Given the description of an element on the screen output the (x, y) to click on. 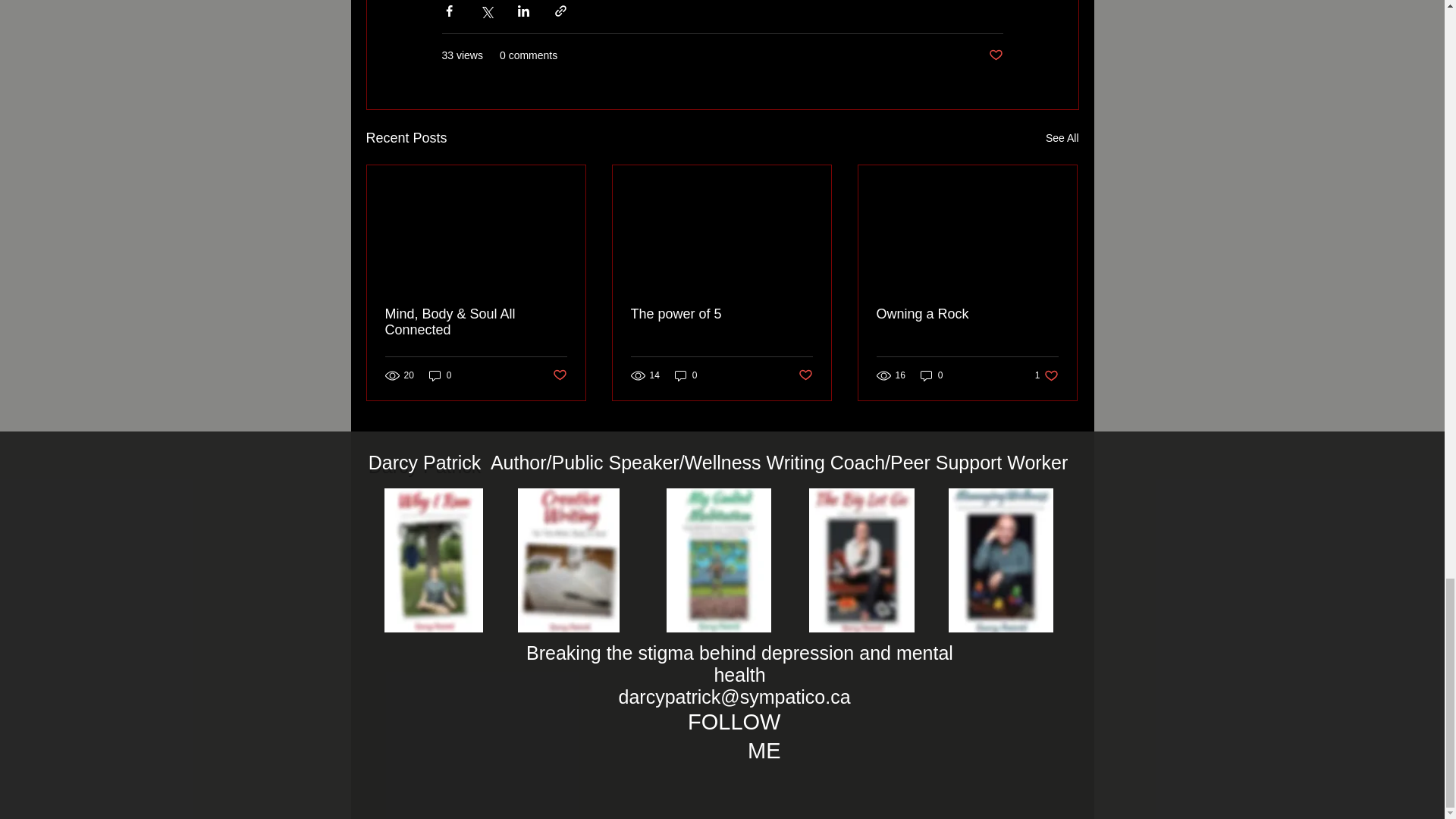
0 (685, 374)
The power of 5 (721, 314)
Owning a Rock (967, 314)
See All (1061, 138)
Post not marked as liked (995, 55)
Post not marked as liked (1046, 374)
0 (558, 375)
0 (931, 374)
Post not marked as liked (440, 374)
